Given the description of an element on the screen output the (x, y) to click on. 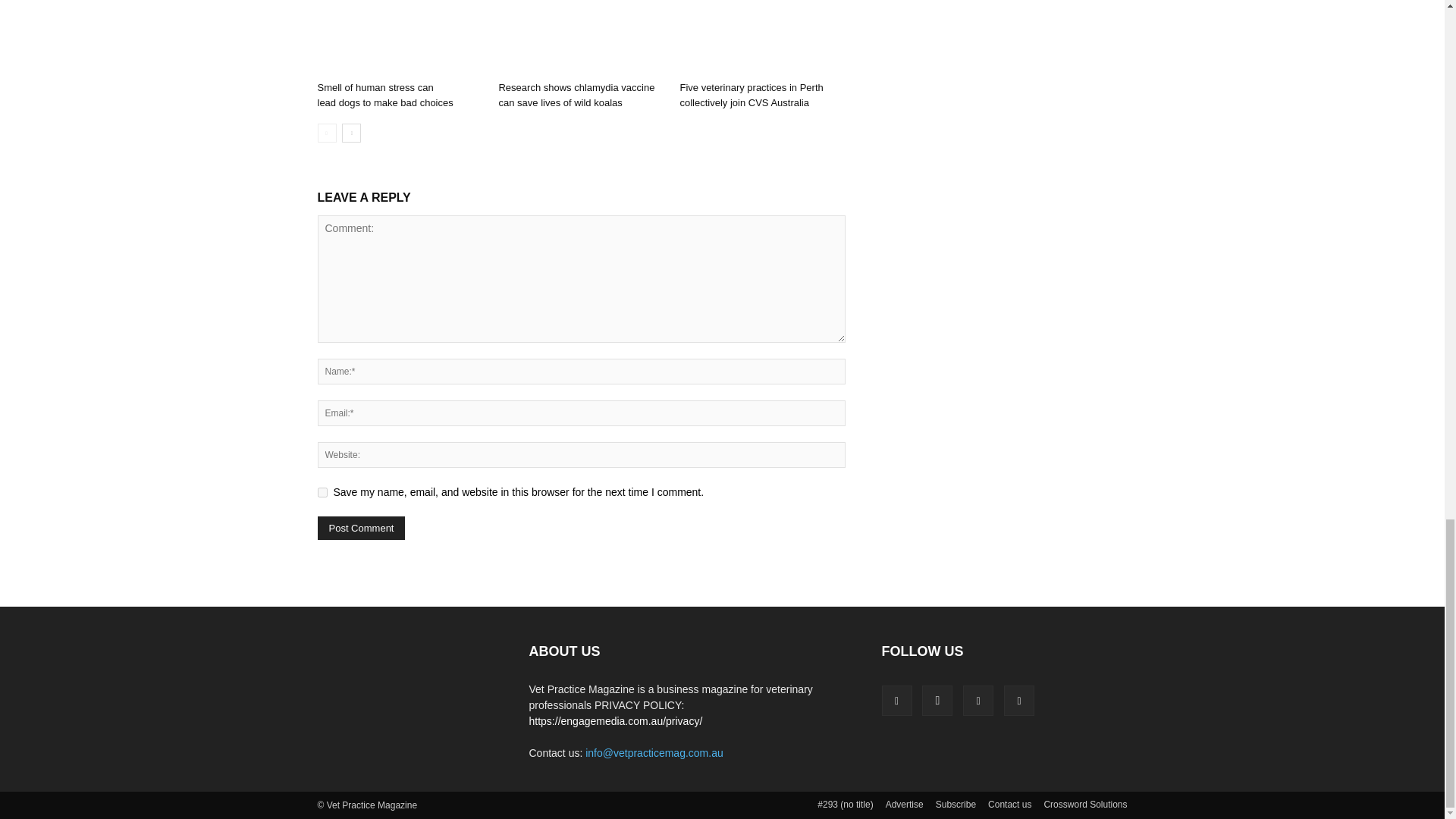
Post Comment (360, 527)
yes (321, 492)
